Given the description of an element on the screen output the (x, y) to click on. 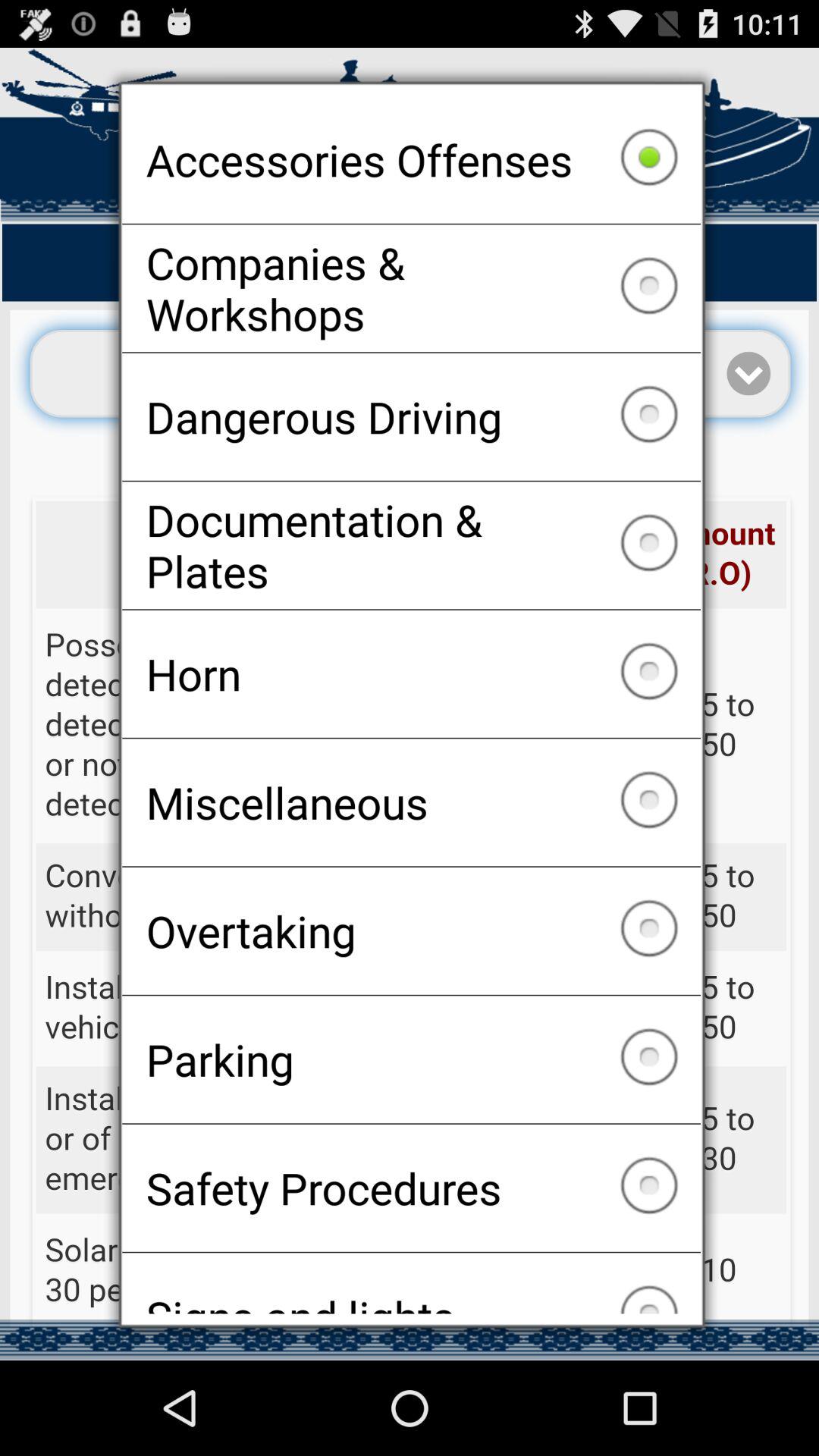
turn on companies & workshops item (411, 288)
